Given the description of an element on the screen output the (x, y) to click on. 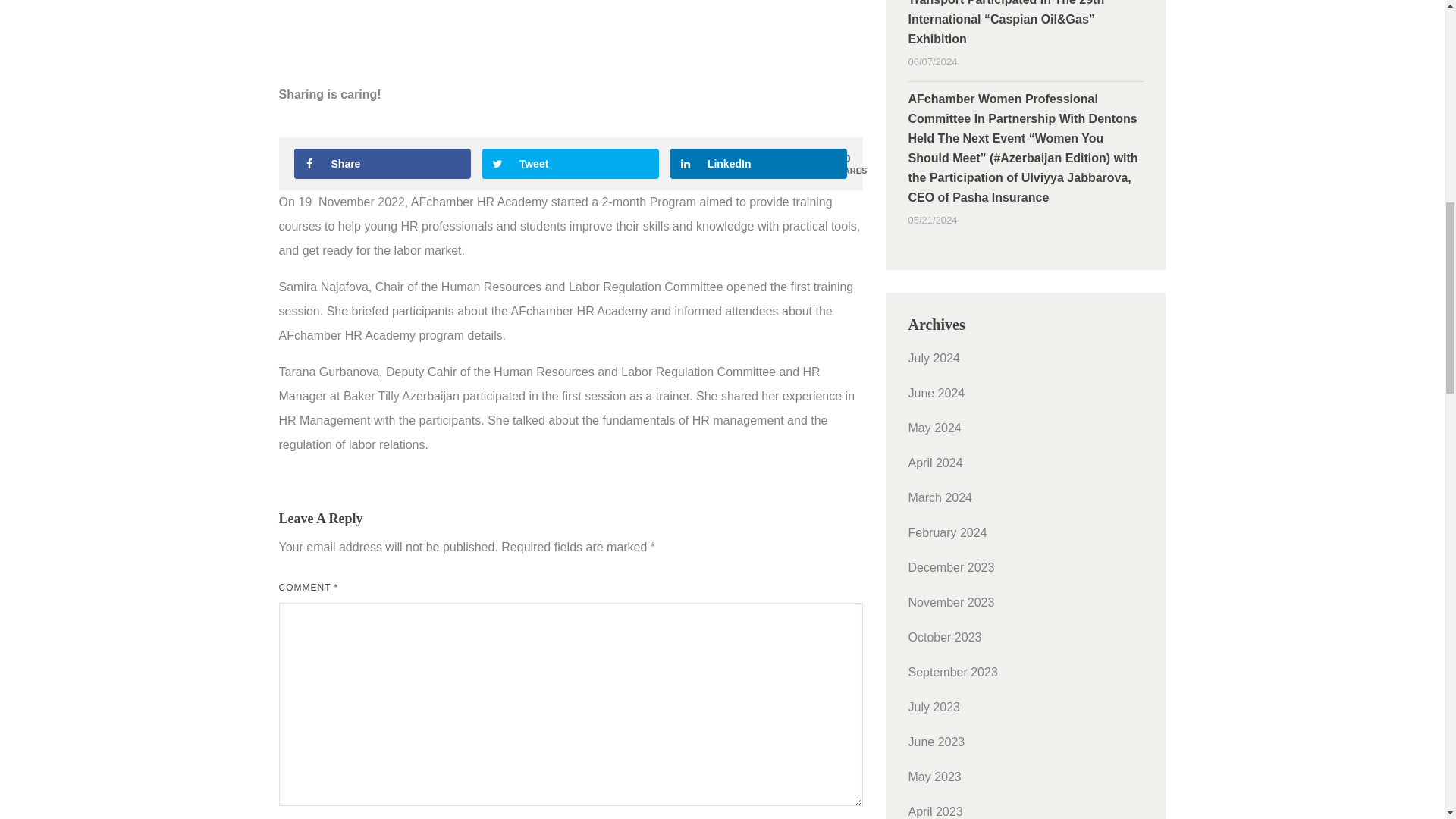
Share on Facebook (382, 163)
Share on LinkedIn (758, 163)
Share on Twitter (570, 163)
